Given the description of an element on the screen output the (x, y) to click on. 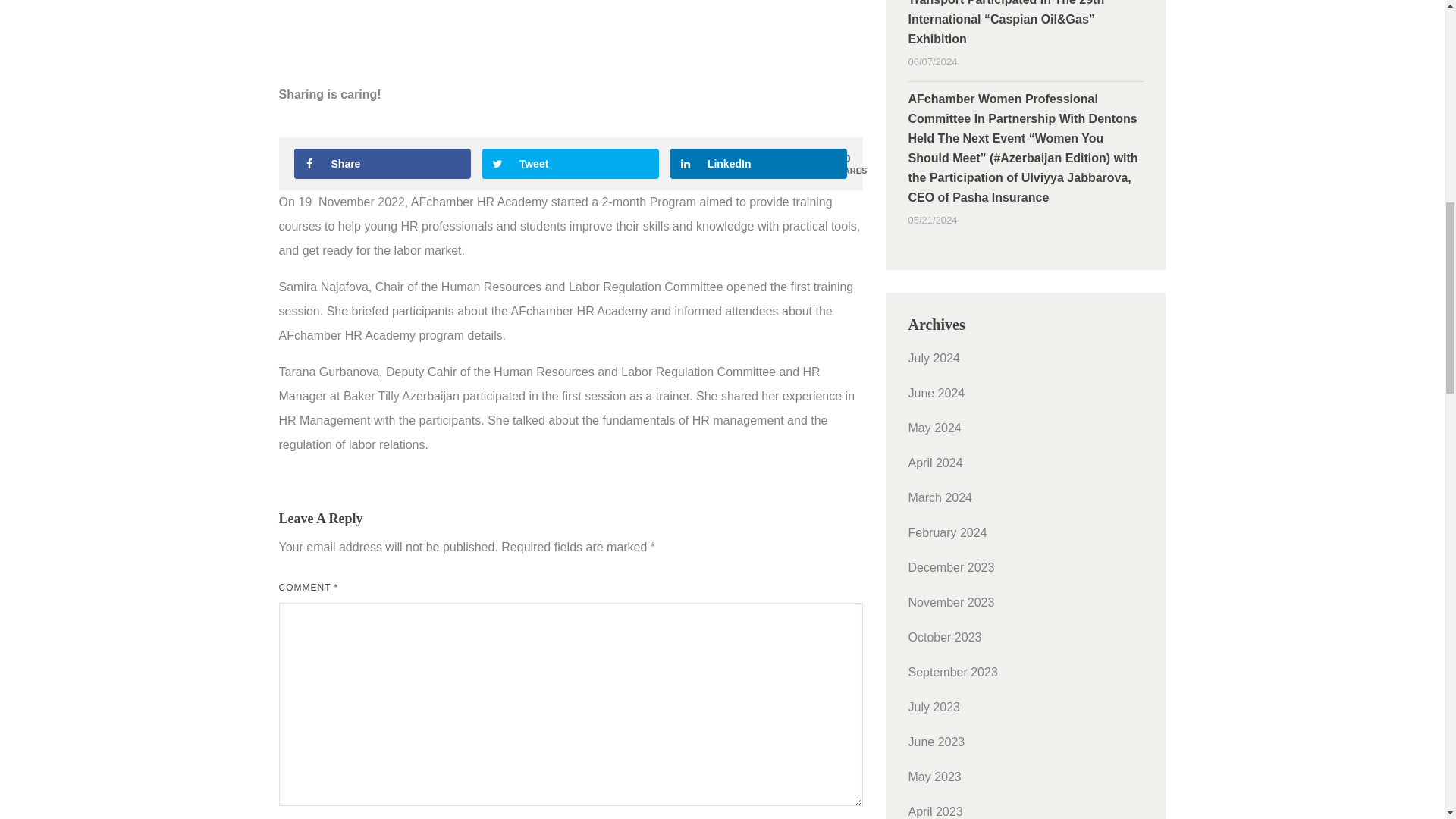
Share on Facebook (382, 163)
Share on LinkedIn (758, 163)
Share on Twitter (570, 163)
